Given the description of an element on the screen output the (x, y) to click on. 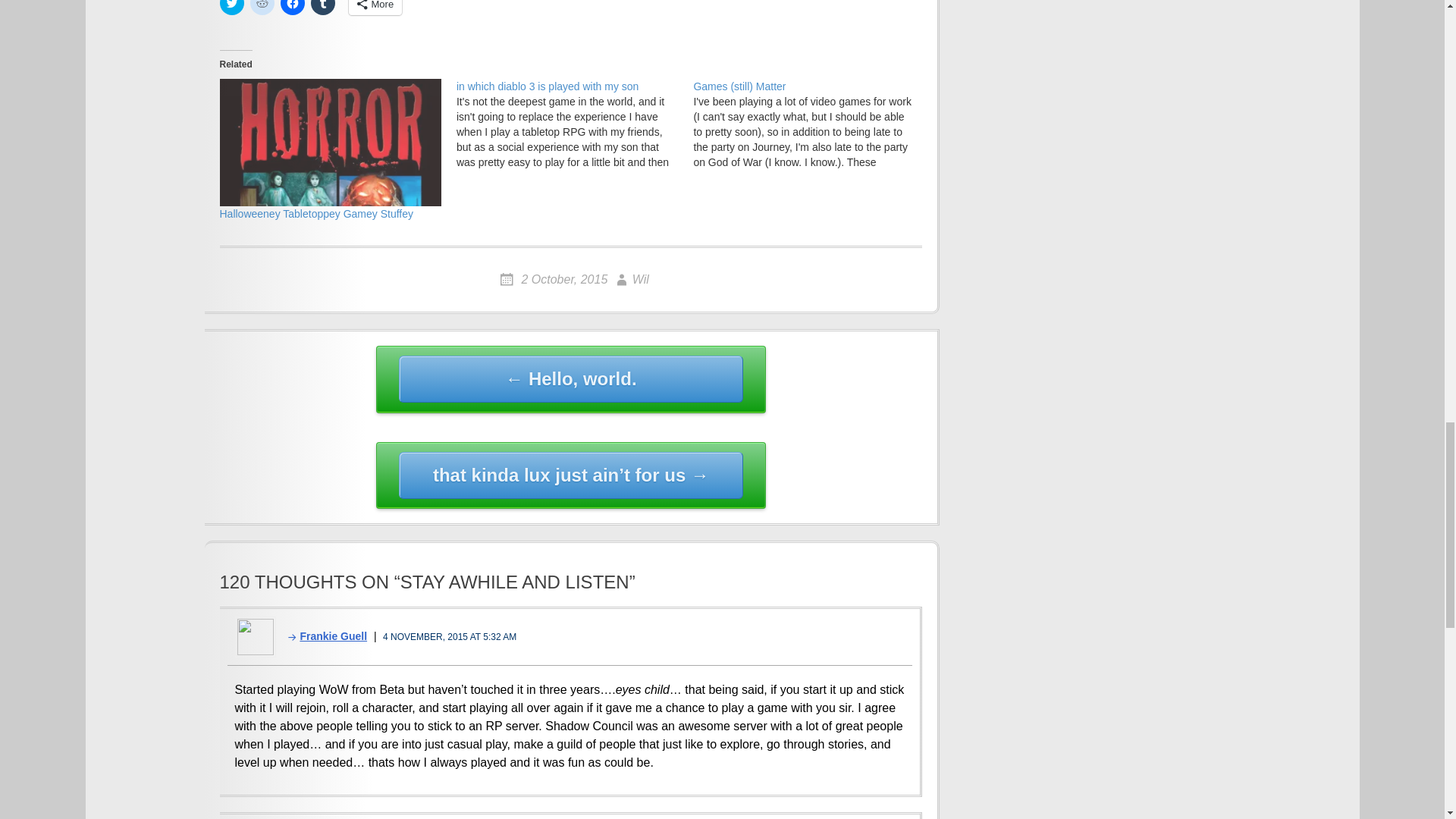
Frankie Guell (322, 635)
Click to share on Reddit (262, 7)
Click to share on Facebook (292, 7)
Click to share on Tumblr (322, 7)
Wil (630, 278)
Halloweeney Tabletoppey Gamey Stuffey (316, 214)
2 October, 2015 (553, 278)
Halloweeney Tabletoppey Gamey Stuffey (316, 214)
Halloweeney Tabletoppey Gamey Stuffey (330, 141)
Wil (630, 278)
4 NOVEMBER, 2015 AT 5:32 AM (449, 636)
in which diablo 3 is played with my son (548, 86)
Click to share on Twitter (231, 7)
in which diablo 3 is played with my son (575, 123)
in which diablo 3 is played with my son (548, 86)
